Given the description of an element on the screen output the (x, y) to click on. 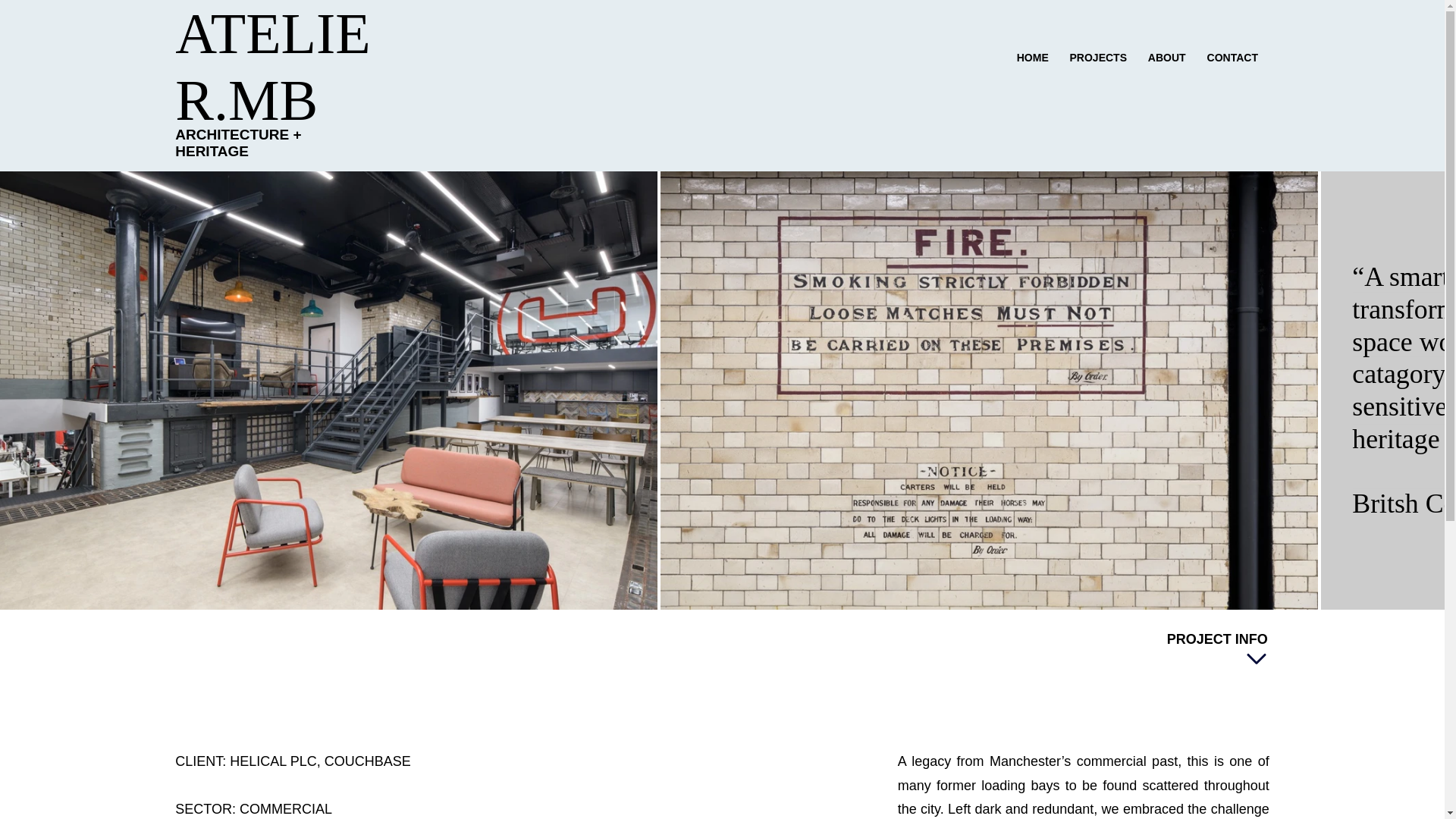
PROJECTS (1098, 57)
CONTACT (1232, 57)
ABOUT (1166, 57)
PROJECT INFO (1217, 650)
ATELIER.MB (271, 65)
HOME (1032, 57)
